Given the description of an element on the screen output the (x, y) to click on. 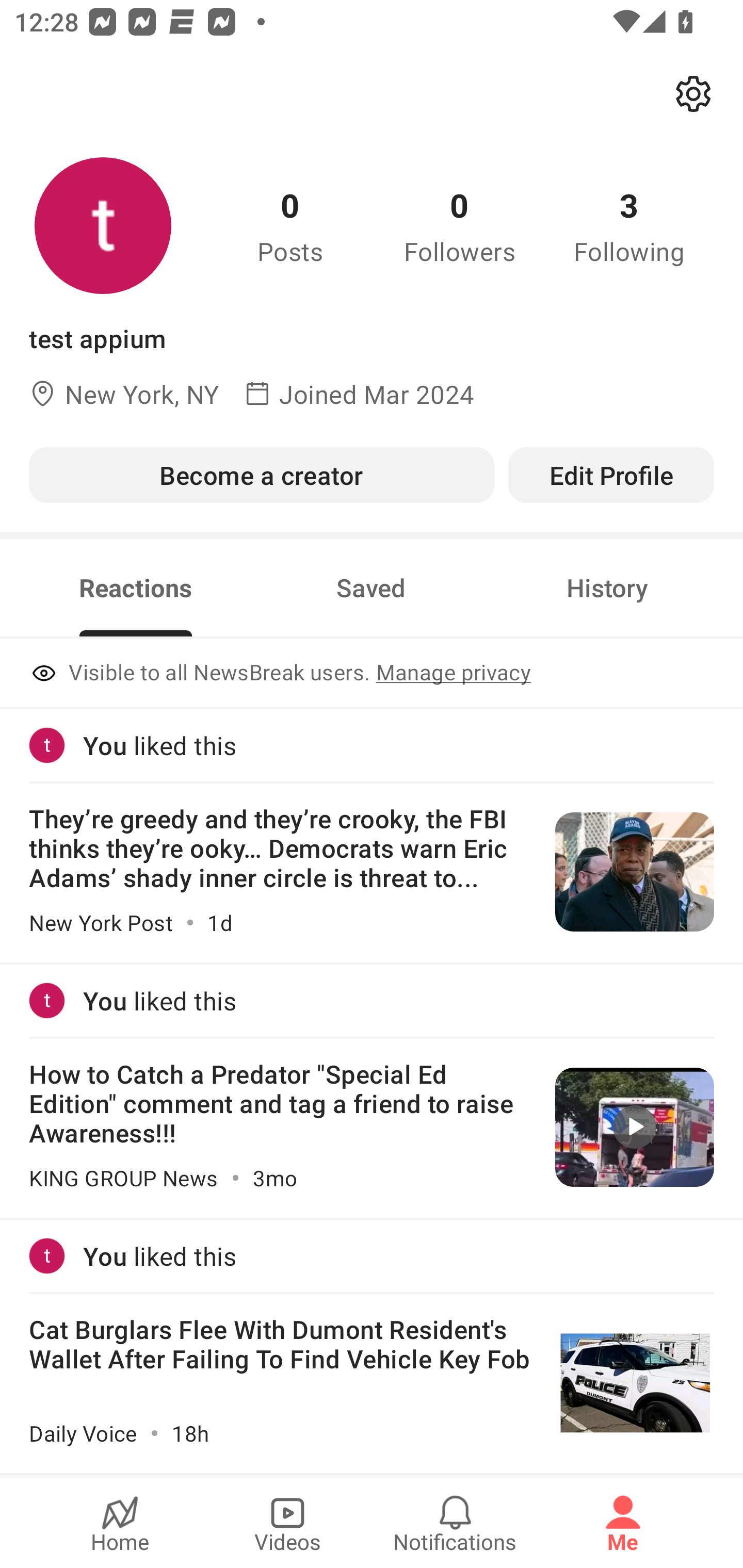
0 Followers (459, 225)
3 Following (629, 225)
Become a creator (261, 474)
Edit Profile (611, 474)
Saved (370, 587)
History (606, 587)
Visible to all NewsBreak users.  Manage privacy (371, 673)
Home (119, 1522)
Videos (287, 1522)
Notifications (455, 1522)
